Given the description of an element on the screen output the (x, y) to click on. 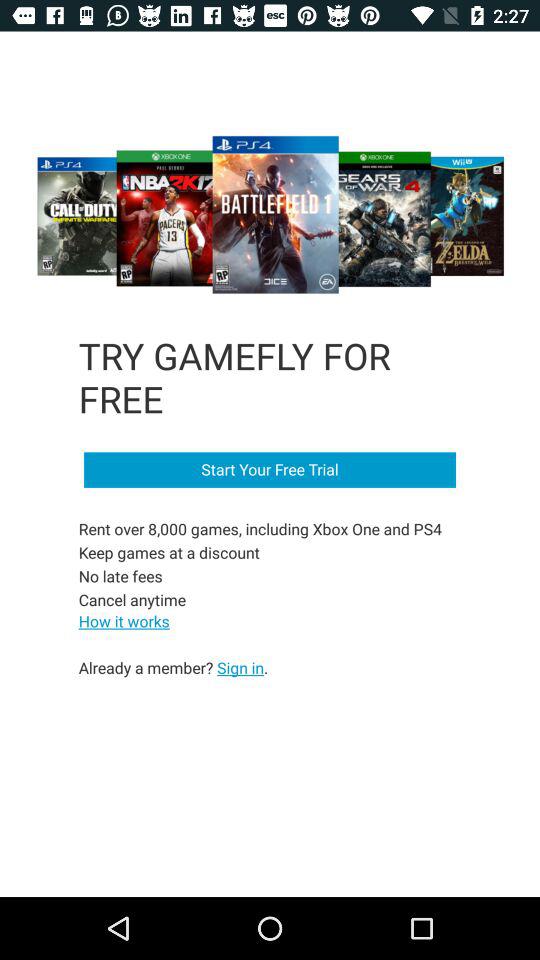
scroll to start your free item (269, 469)
